Given the description of an element on the screen output the (x, y) to click on. 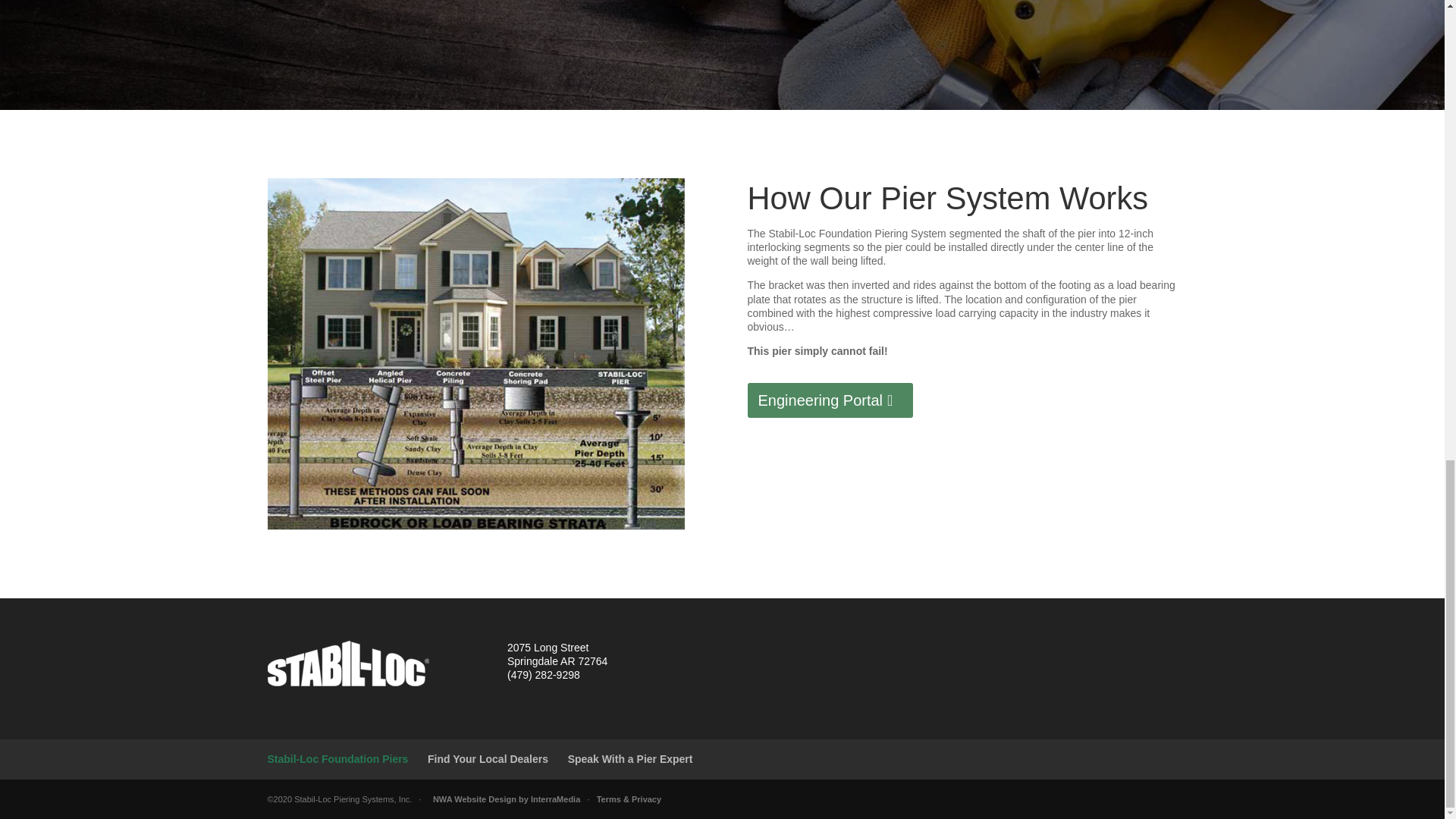
Engineering Portal (831, 400)
